Given the description of an element on the screen output the (x, y) to click on. 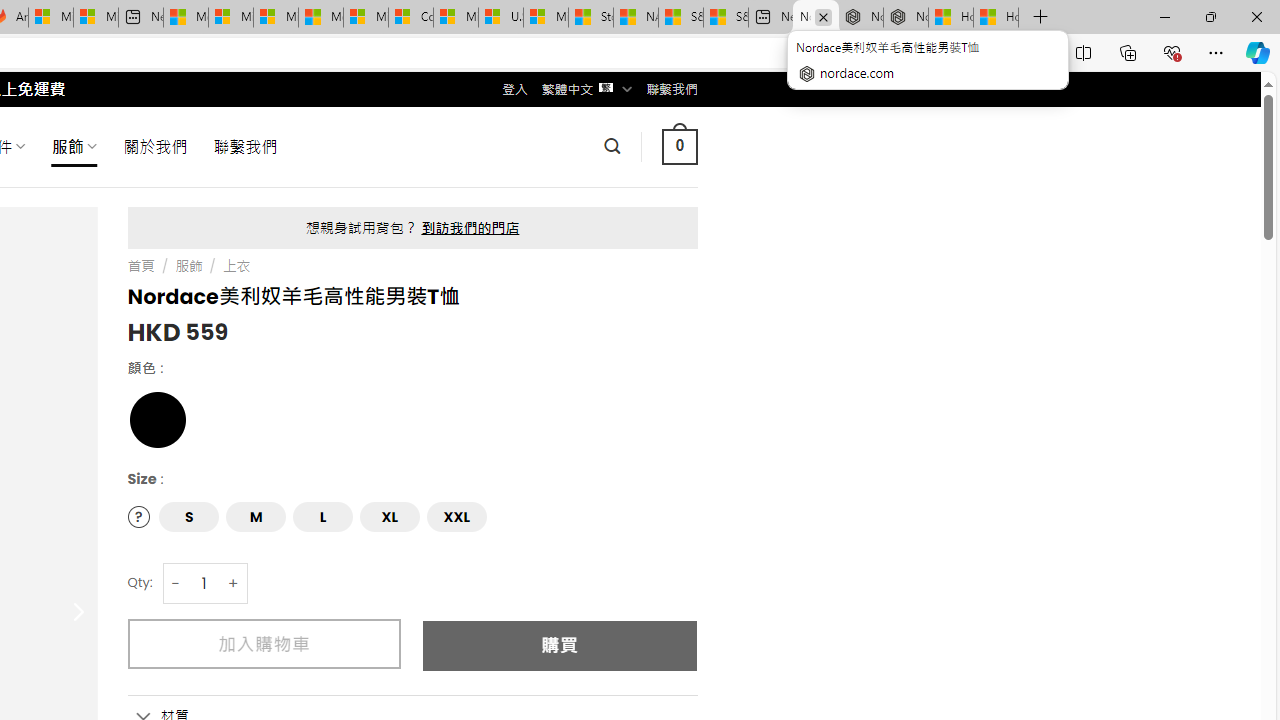
Consumer Health Data Privacy Policy (410, 17)
Close (1256, 16)
New tab (770, 17)
Read aloud this page (Ctrl+Shift+U) (991, 53)
Close tab (823, 16)
Show translate options (910, 53)
